Given the description of an element on the screen output the (x, y) to click on. 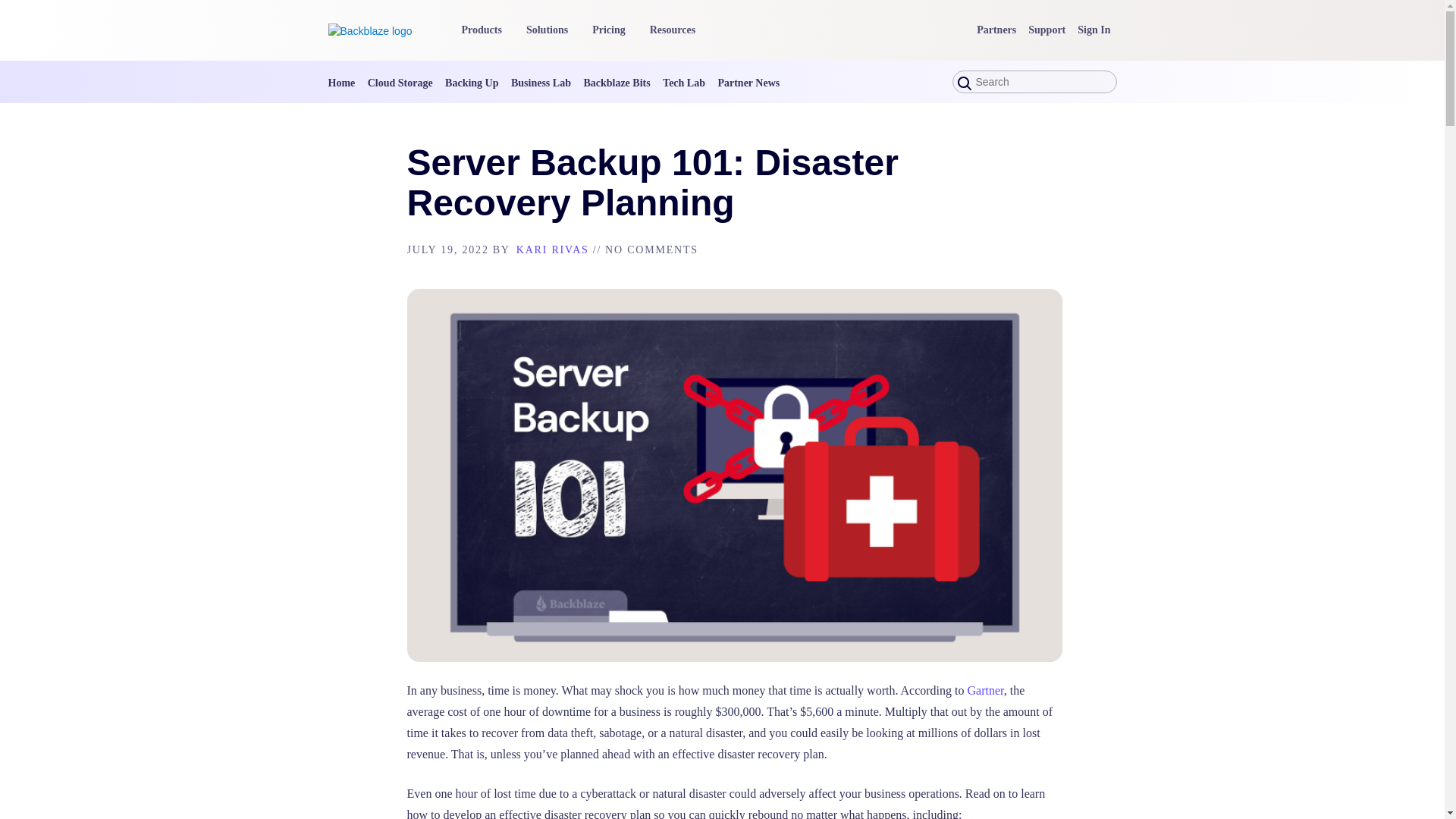
Partners (996, 30)
Gartner (986, 689)
Backing Up (471, 82)
Partner News (747, 82)
Backblaze Bits (616, 82)
Sign In (1093, 30)
Tech Lab (683, 82)
Business Lab (540, 82)
NO COMMENTS (651, 249)
Support (1046, 30)
KARI RIVAS (552, 249)
Search (22, 8)
Cloud Storage (400, 82)
